Given the description of an element on the screen output the (x, y) to click on. 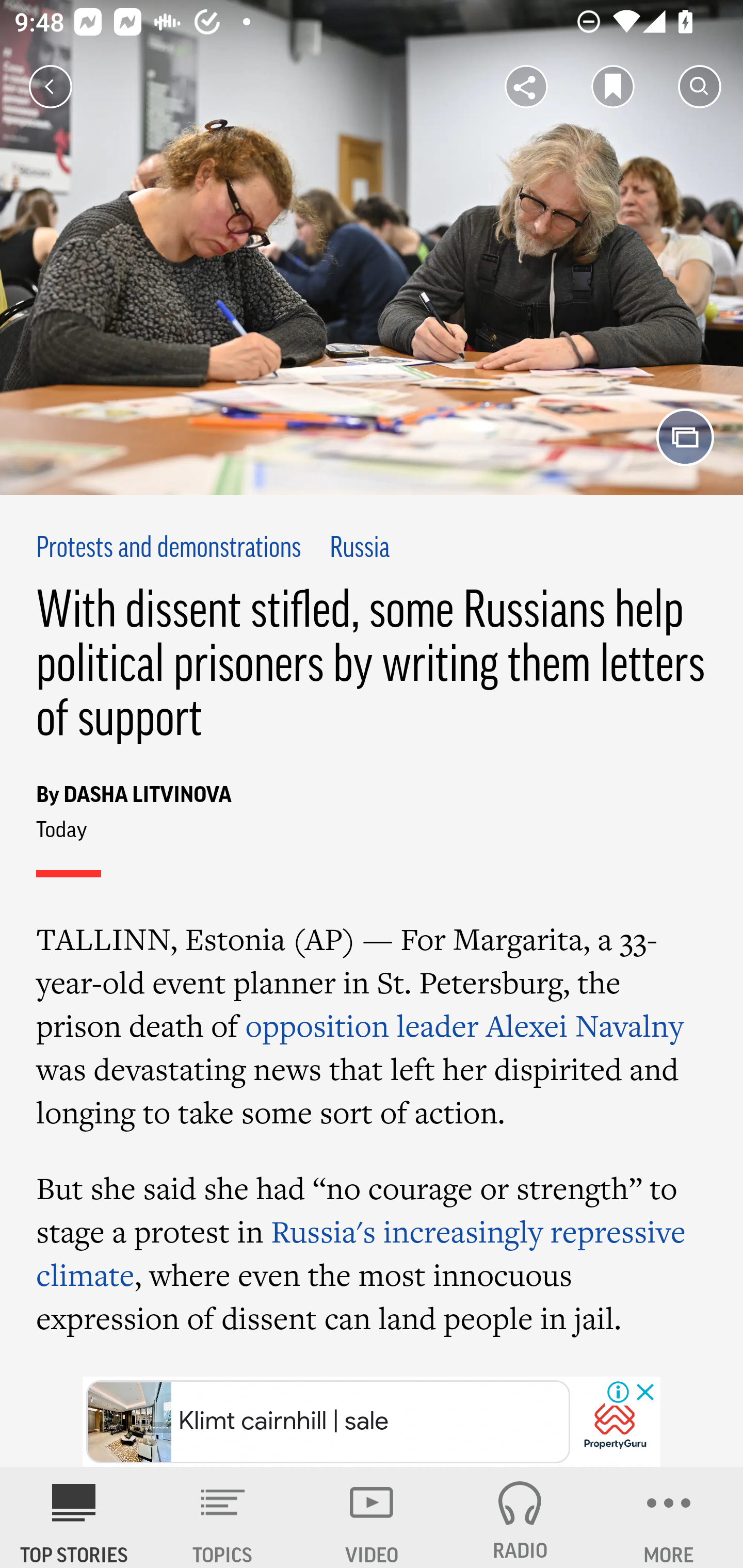
Protests and demonstrations (168, 549)
Russia (359, 549)
opposition leader Alexei Navalny (463, 1025)
Russia's increasingly repressive climate (361, 1253)
Klimt cairnhill | sale (327, 1421)
for-sale-klimt-cairnhill (615, 1422)
AP News TOP STORIES (74, 1517)
TOPICS (222, 1517)
VIDEO (371, 1517)
RADIO (519, 1517)
MORE (668, 1517)
